Given the description of an element on the screen output the (x, y) to click on. 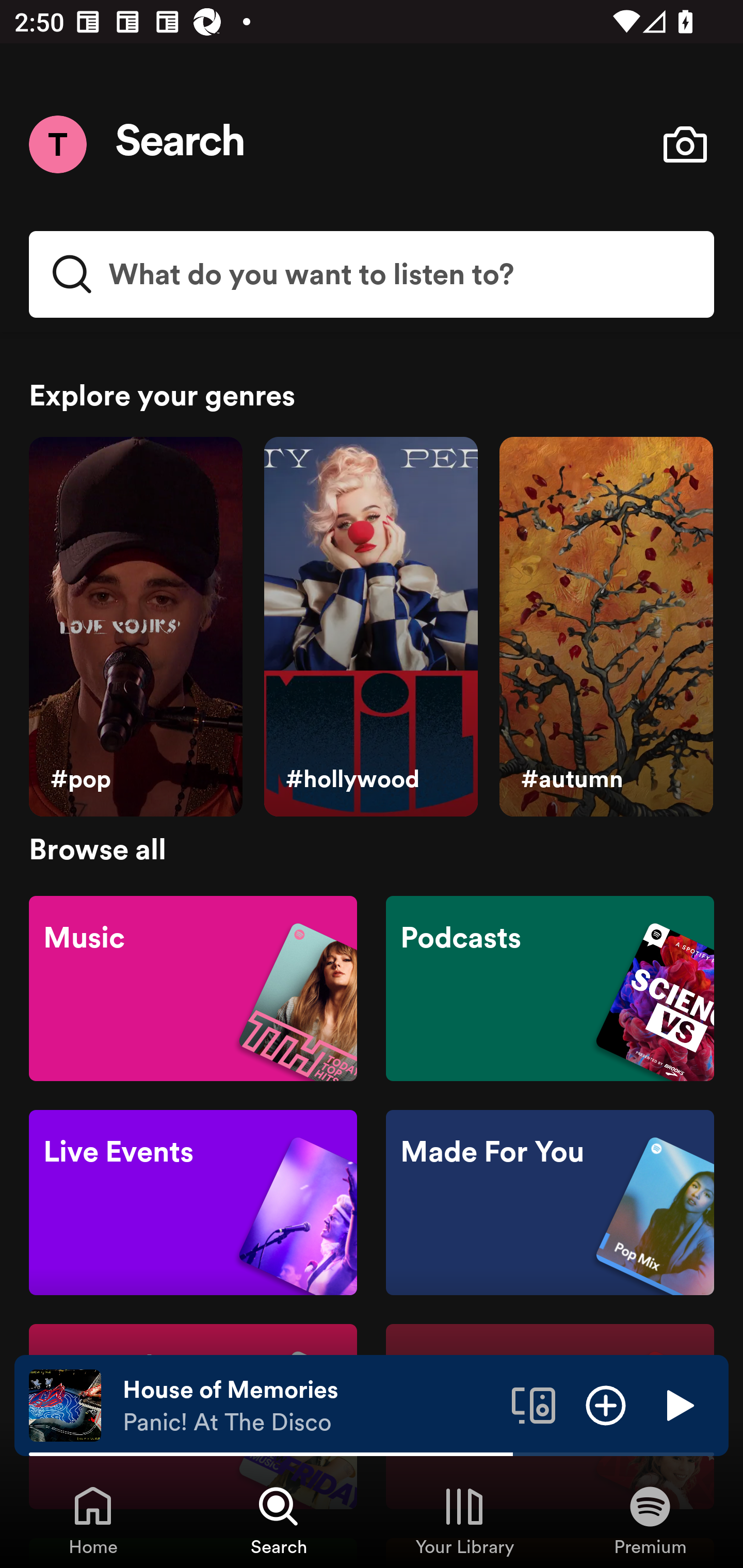
Menu (57, 144)
Open camera (685, 145)
Search (180, 144)
#pop (135, 626)
#hollywood (370, 626)
#autumn (606, 626)
Music (192, 987)
Podcasts (549, 987)
Live Events (192, 1202)
Made For You (549, 1202)
House of Memories Panic! At The Disco (309, 1405)
The cover art of the currently playing track (64, 1404)
Connect to a device. Opens the devices menu (533, 1404)
Add item (605, 1404)
Play (677, 1404)
Home, Tab 1 of 4 Home Home (92, 1519)
Search, Tab 2 of 4 Search Search (278, 1519)
Your Library, Tab 3 of 4 Your Library Your Library (464, 1519)
Premium, Tab 4 of 4 Premium Premium (650, 1519)
